Given the description of an element on the screen output the (x, y) to click on. 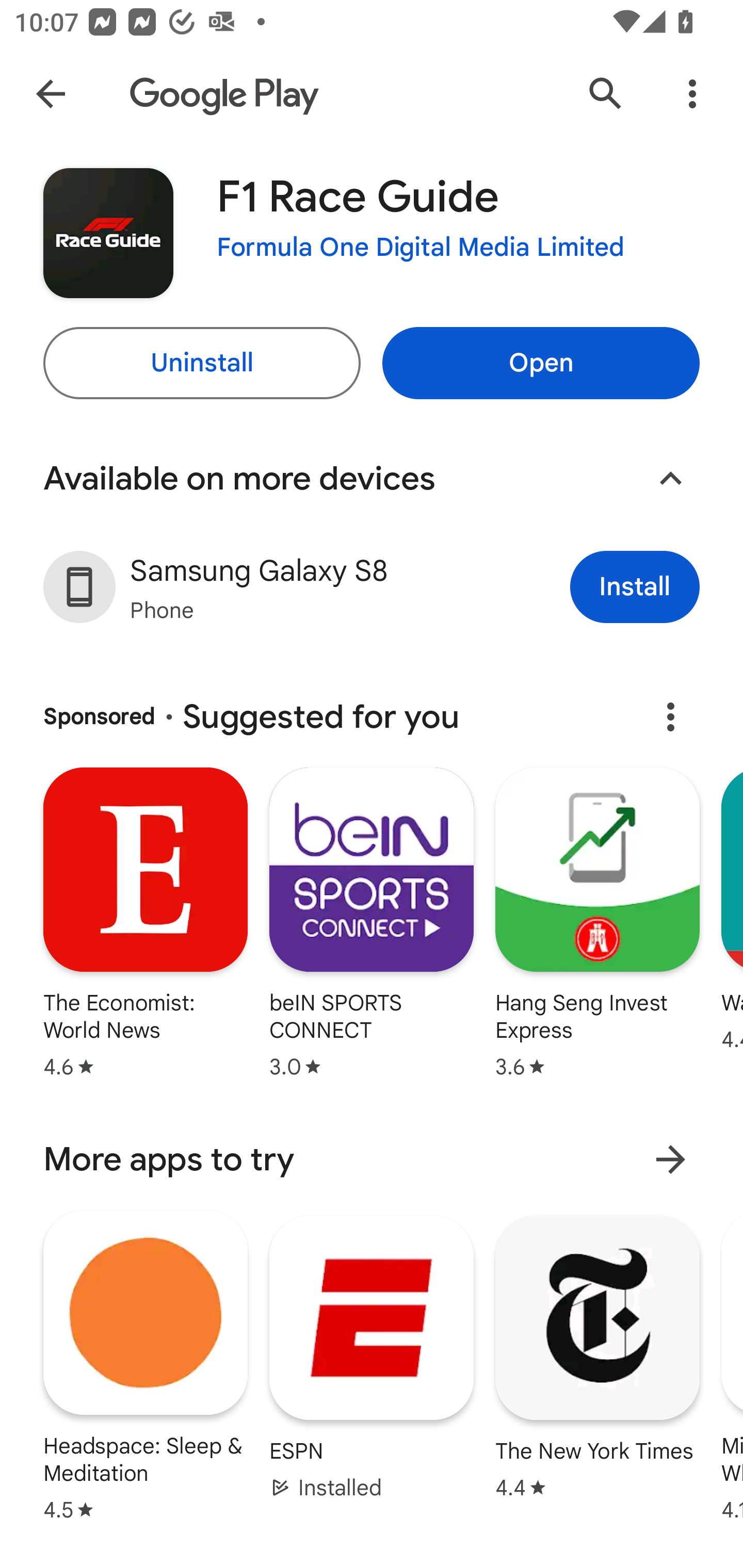
Navigate up (50, 93)
Search Google Play (605, 93)
More Options (692, 93)
Formula One Digital Media Limited (420, 247)
Uninstall (201, 362)
Open (540, 362)
Available on more devices Collapse (371, 478)
Collapse (670, 478)
Install (634, 587)
About this ad (670, 717)
The Economist: World News
Star rating: 4.6
 (145, 924)
beIN SPORTS CONNECT
Star rating: 3.0
 (371, 924)
Hang Seng Invest Express
Star rating: 3.6
 (597, 924)
More apps to try More results for More apps to try (371, 1159)
More results for More apps to try (670, 1159)
Headspace: Sleep & Meditation
Star rating: 4.5
 (145, 1365)
ESPN
Installed
 (371, 1356)
The New York Times
Star rating: 4.4
 (597, 1356)
